Given the description of an element on the screen output the (x, y) to click on. 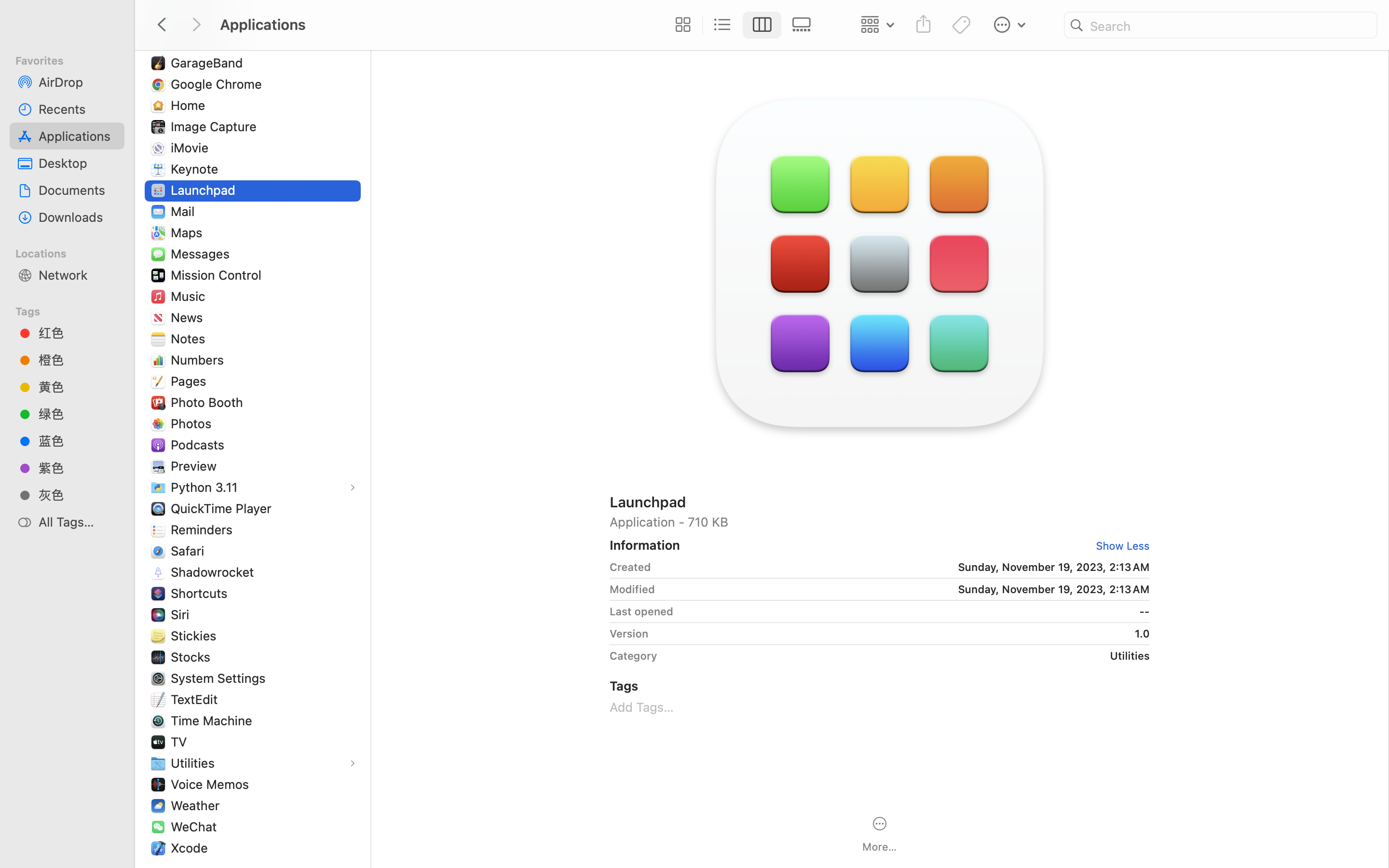
灰色 Element type: AXStaticText (77, 494)
Applications Element type: AXStaticText (437, 827)
System Settings Element type: AXTextField (220, 677)
Pages Element type: AXTextField (190, 380)
Time Machine Element type: AXTextField (213, 720)
